Given the description of an element on the screen output the (x, y) to click on. 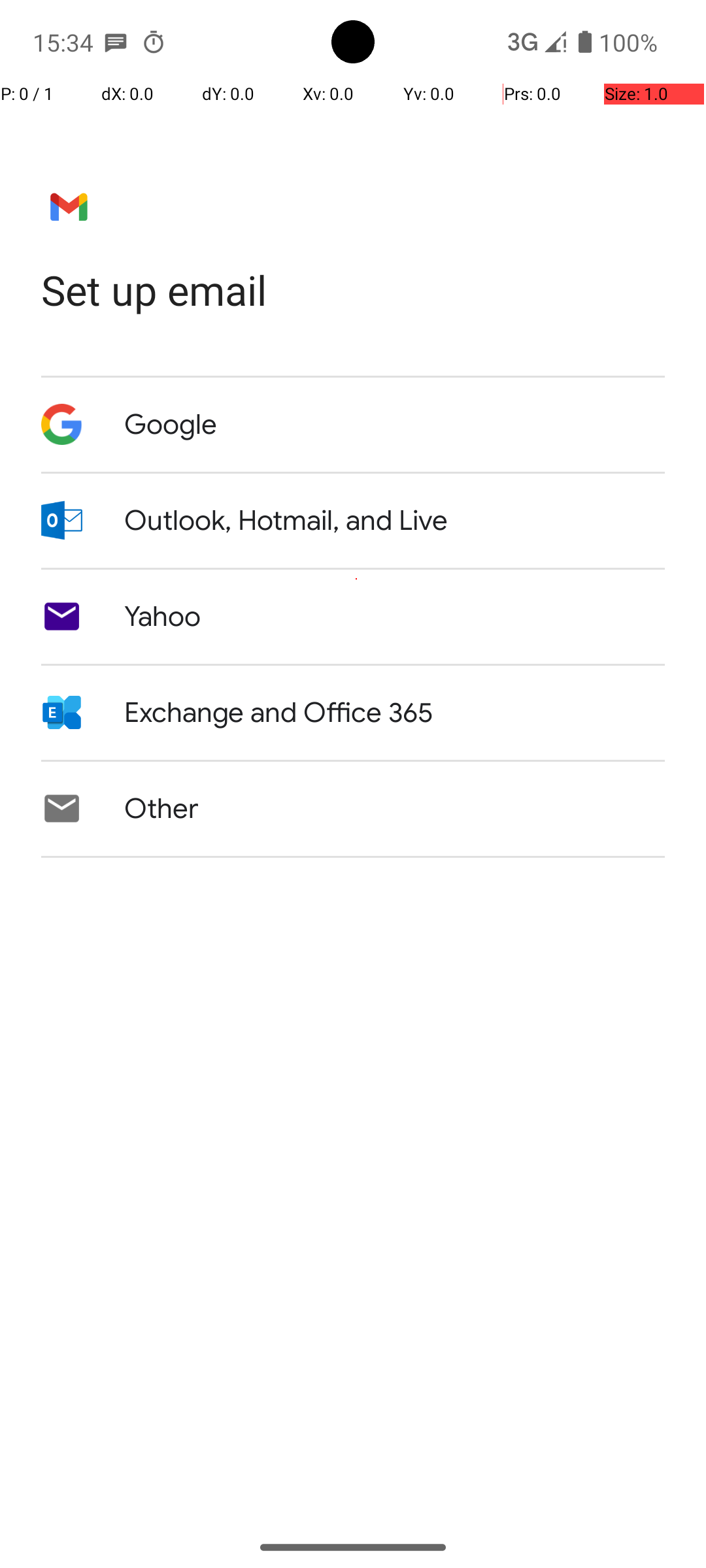
Set up email Element type: android.widget.TextView (352, 289)
Outlook, Hotmail, and Live Element type: android.widget.TextView (286, 520)
Exchange and Office 365 Element type: android.widget.TextView (278, 712)
